Given the description of an element on the screen output the (x, y) to click on. 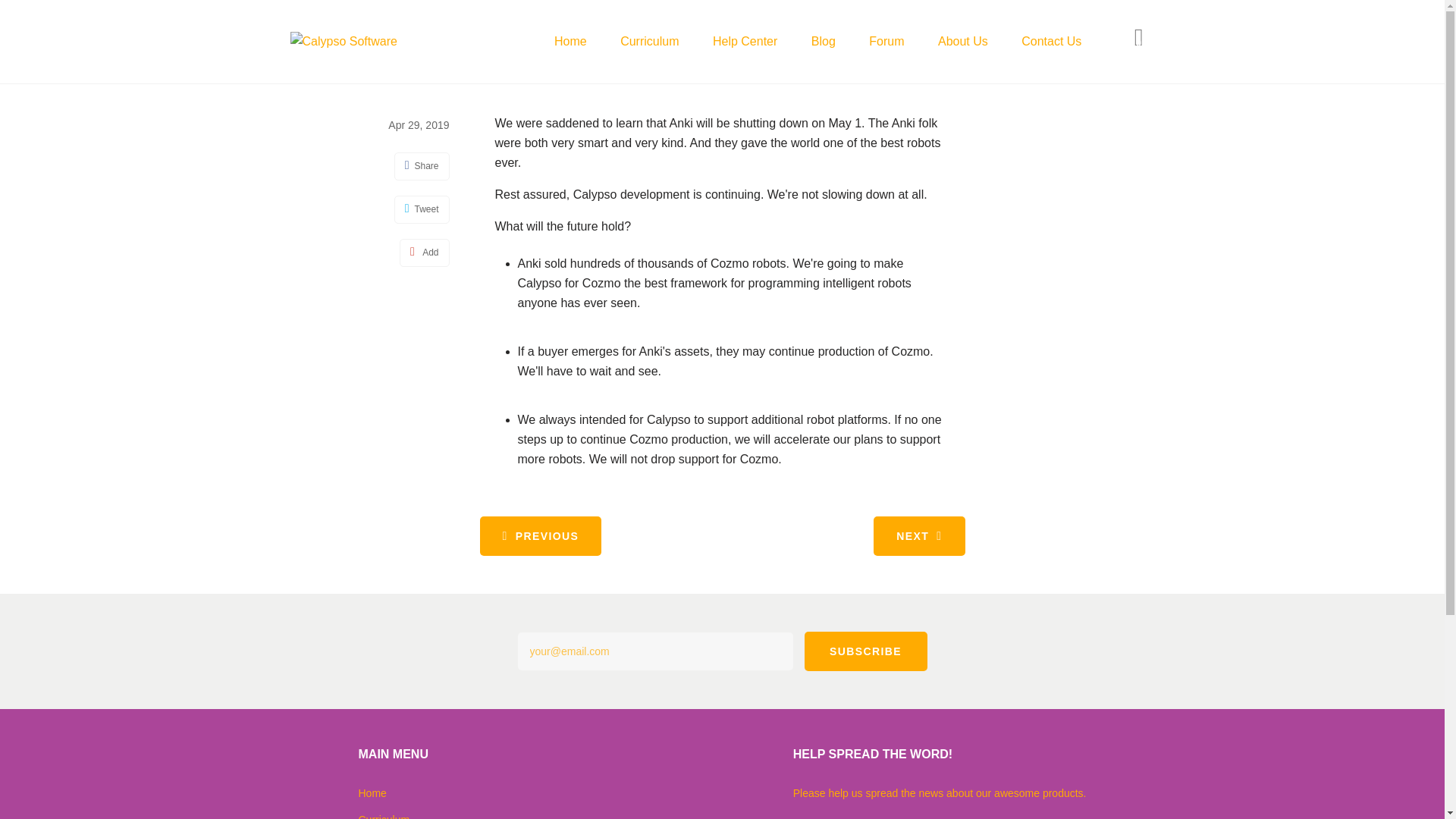
Tweet (421, 209)
Help Center (744, 41)
Forum (885, 41)
NEXT (918, 536)
Share (421, 166)
PREVIOUS (540, 536)
Blog (823, 41)
Home (570, 41)
Subscribe (864, 650)
Add (423, 252)
Curriculum (649, 41)
Curriculum (383, 816)
Subscribe (864, 650)
Home (371, 793)
About Us (963, 41)
